Given the description of an element on the screen output the (x, y) to click on. 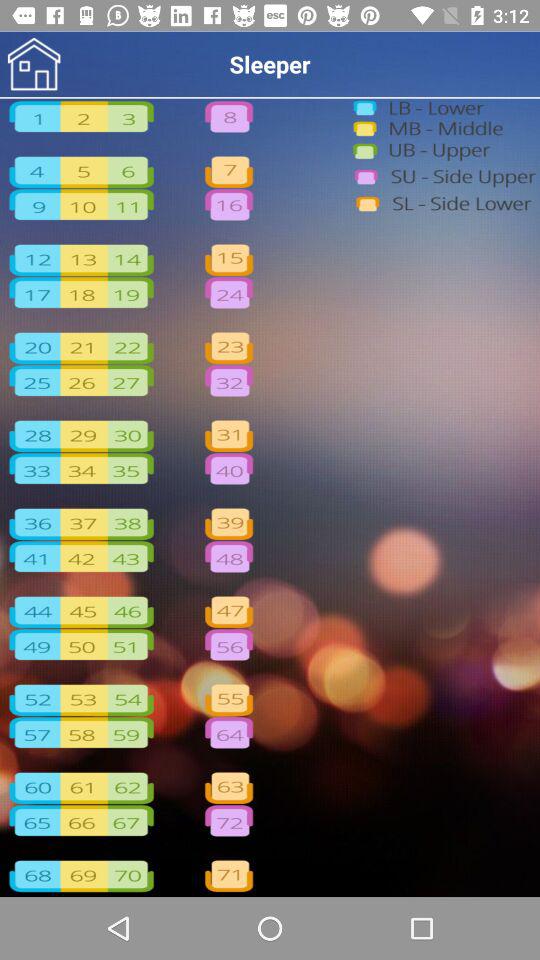
go to homepage (33, 63)
